Given the description of an element on the screen output the (x, y) to click on. 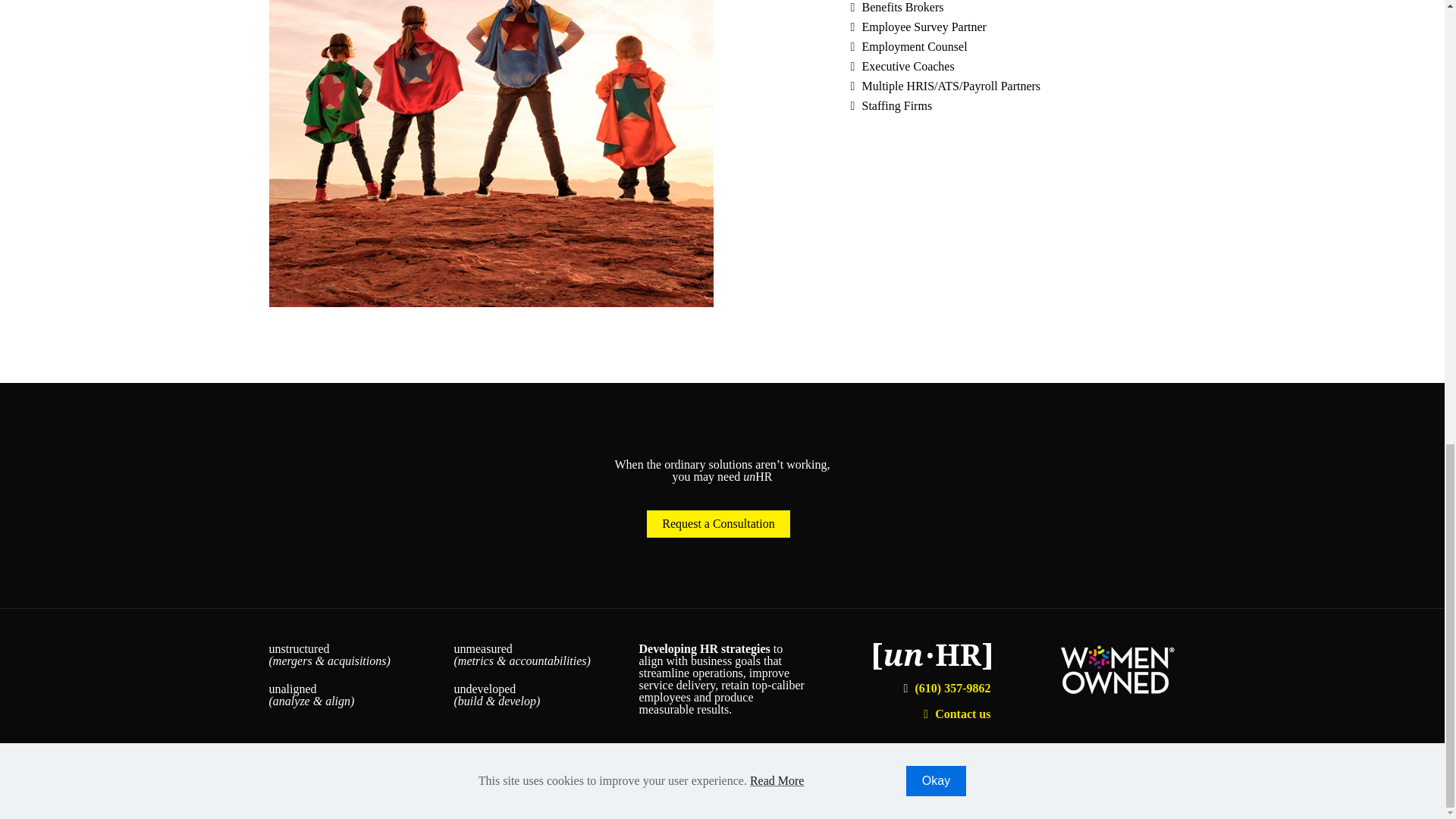
Request a Consultation (717, 523)
Privacy Policy (650, 779)
LinkedIn (1123, 779)
Contact us (955, 714)
Areas We Serve (816, 779)
Sitemap (765, 779)
Terms of Service (713, 779)
